Given the description of an element on the screen output the (x, y) to click on. 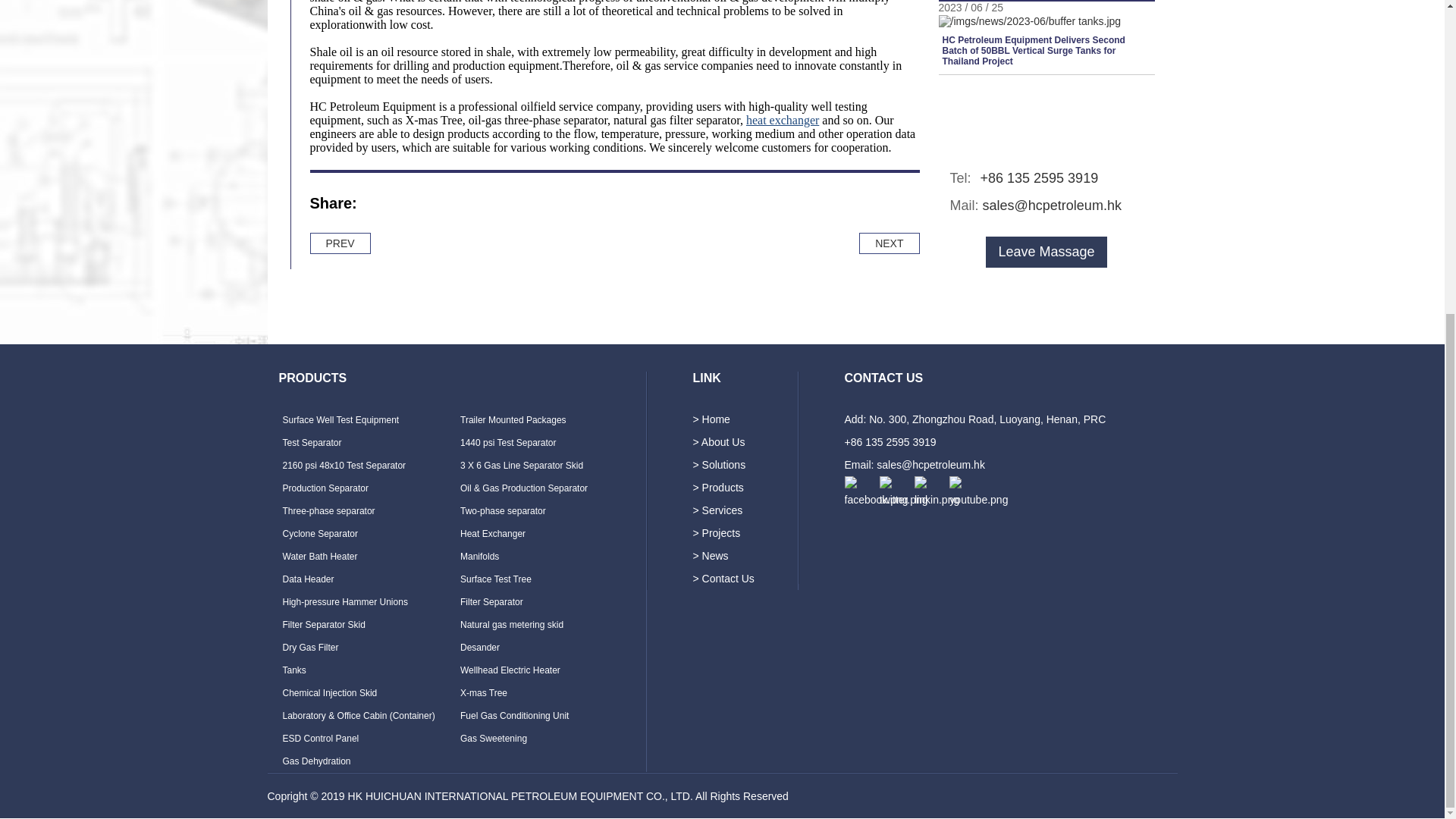
Cyclone Separator (319, 533)
Trailer Mounted Packages (513, 419)
LinkedIn (445, 207)
2160 psi 48x10 Test Separator (344, 465)
Three-phase separator (328, 511)
3 X 6 Gas Line Separator Skid (521, 465)
Surface Well Test Equipment (340, 419)
Heat Exchanger (492, 533)
Water Bath Heater (319, 556)
Facebook (377, 207)
Production Separator (325, 488)
heat exchanger (781, 119)
Twitter (410, 207)
PREV (338, 242)
